Given the description of an element on the screen output the (x, y) to click on. 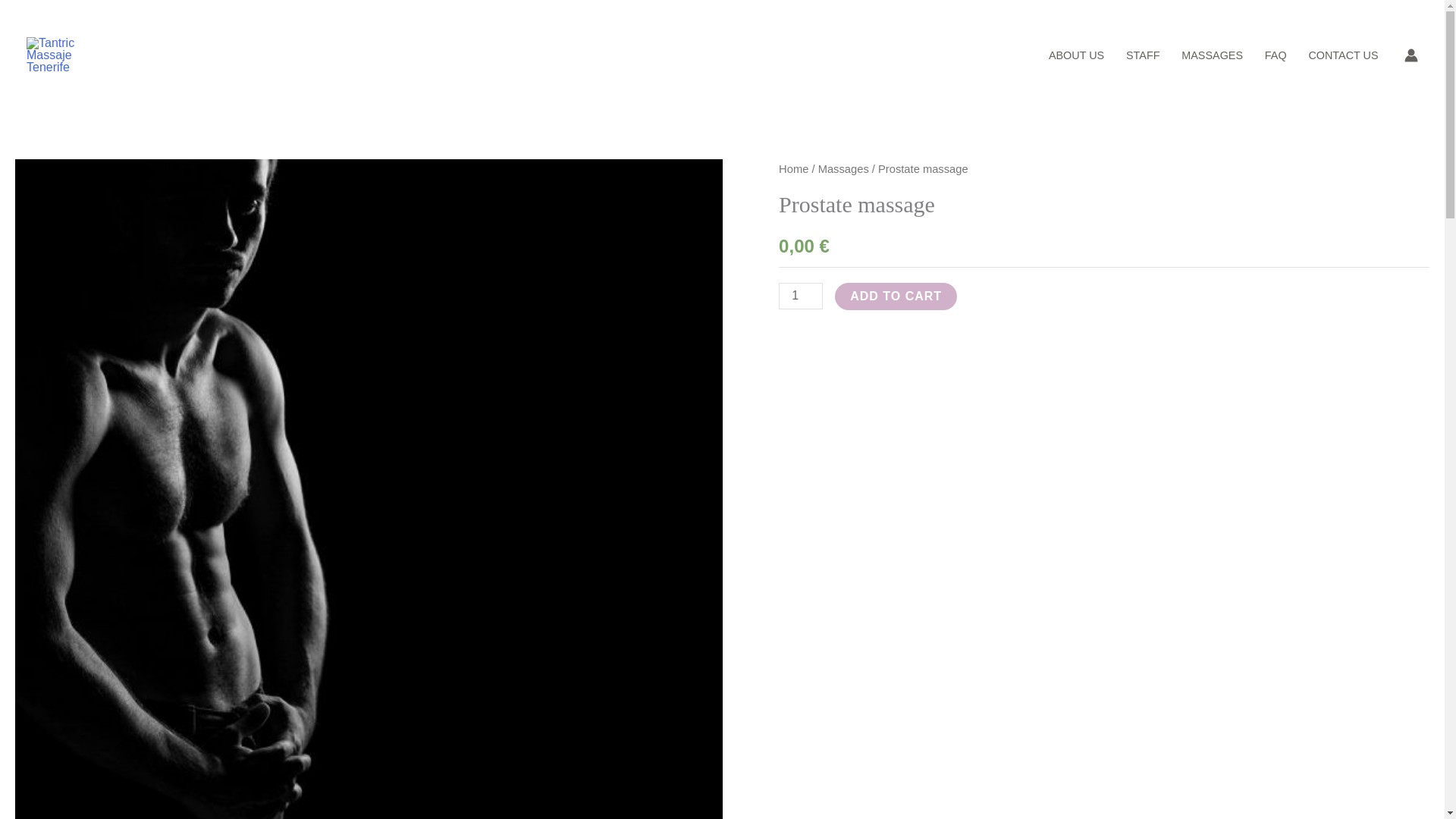
1 (800, 295)
Qty (800, 295)
CONTACT US (1343, 55)
ABOUT US (1075, 55)
ADD TO CART (895, 296)
MASSAGES (1211, 55)
Home (793, 168)
Massages (843, 168)
